Given the description of an element on the screen output the (x, y) to click on. 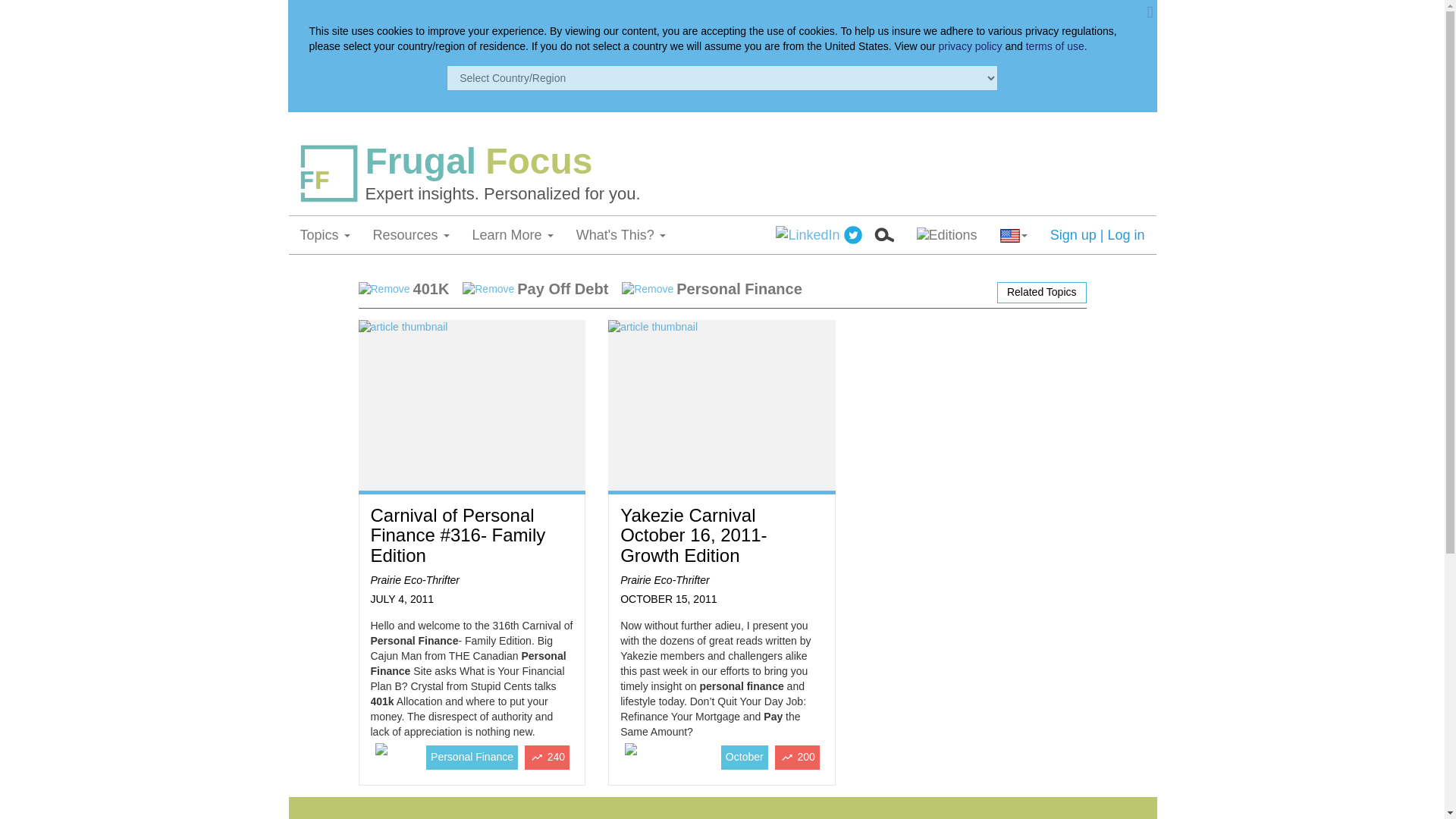
terms of use. (1056, 46)
Select edition (946, 234)
privacy policy (971, 46)
Frugal Focus (754, 161)
Search (882, 234)
Share this (808, 234)
Select your country (1013, 234)
